Given the description of an element on the screen output the (x, y) to click on. 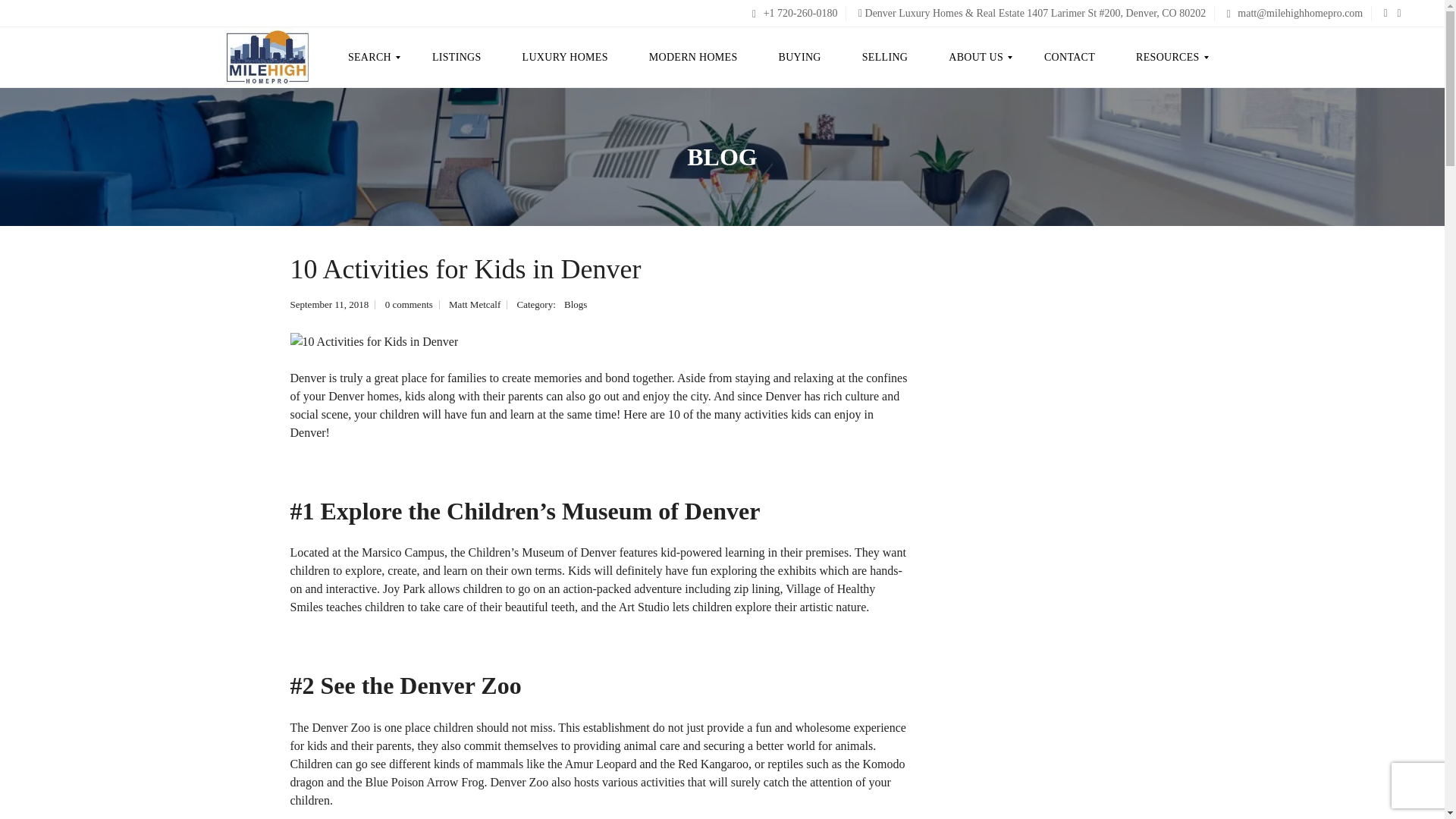
SEARCH (375, 57)
10 Activities for Kids in Denver (373, 341)
Denver Homes and Properties (267, 57)
